Given the description of an element on the screen output the (x, y) to click on. 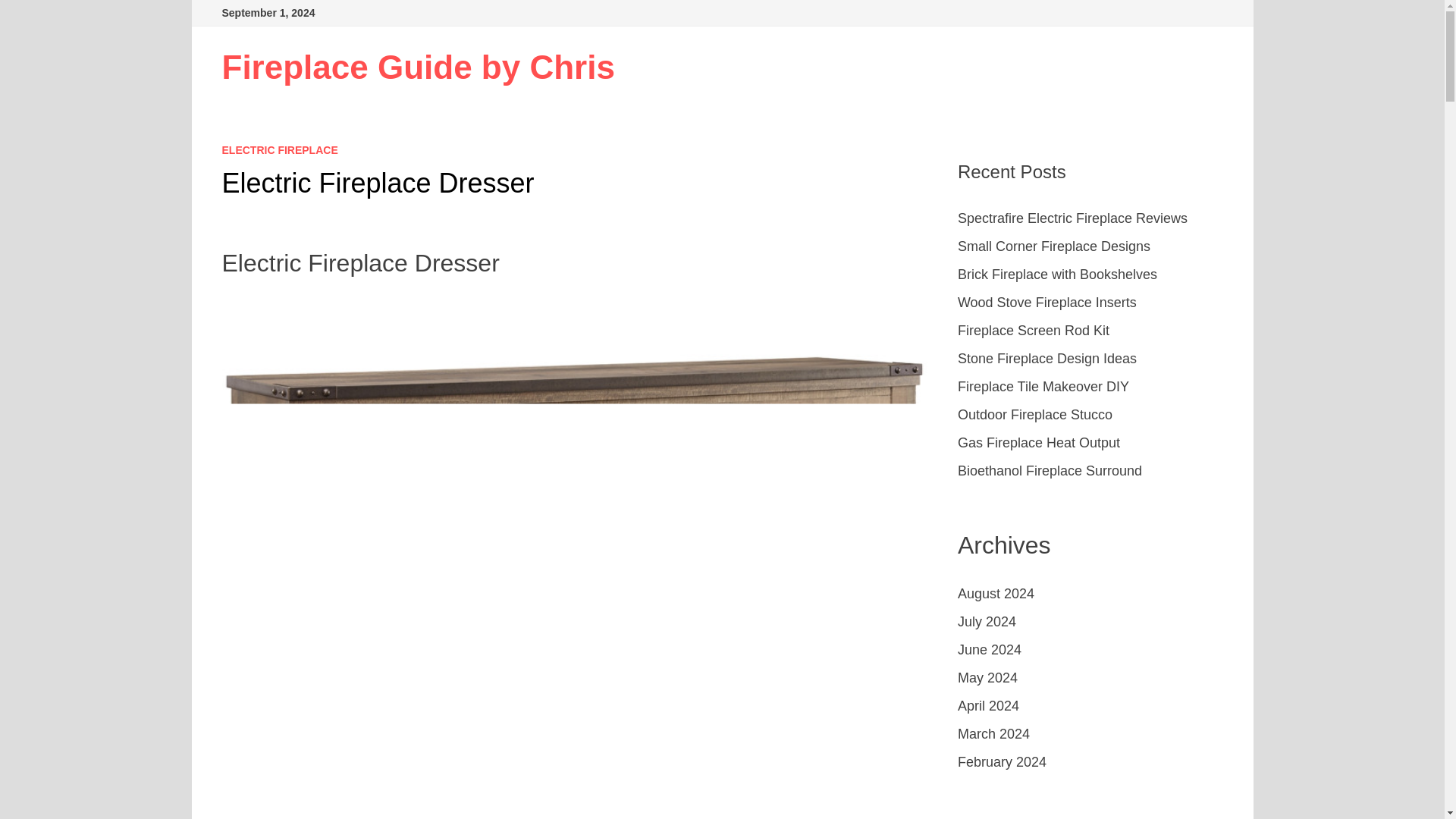
Wood Stove Fireplace Inserts (1047, 302)
Brick Fireplace with Bookshelves (1057, 273)
Bioethanol Fireplace Surround (1049, 470)
Fireplace Tile Makeover DIY (1043, 386)
ELECTRIC FIREPLACE (279, 150)
Small Corner Fireplace Designs (1054, 246)
Fireplace Screen Rod Kit (1033, 330)
July 2024 (987, 621)
Gas Fireplace Heat Output (1038, 442)
Outdoor Fireplace Stucco (1035, 414)
